Given the description of an element on the screen output the (x, y) to click on. 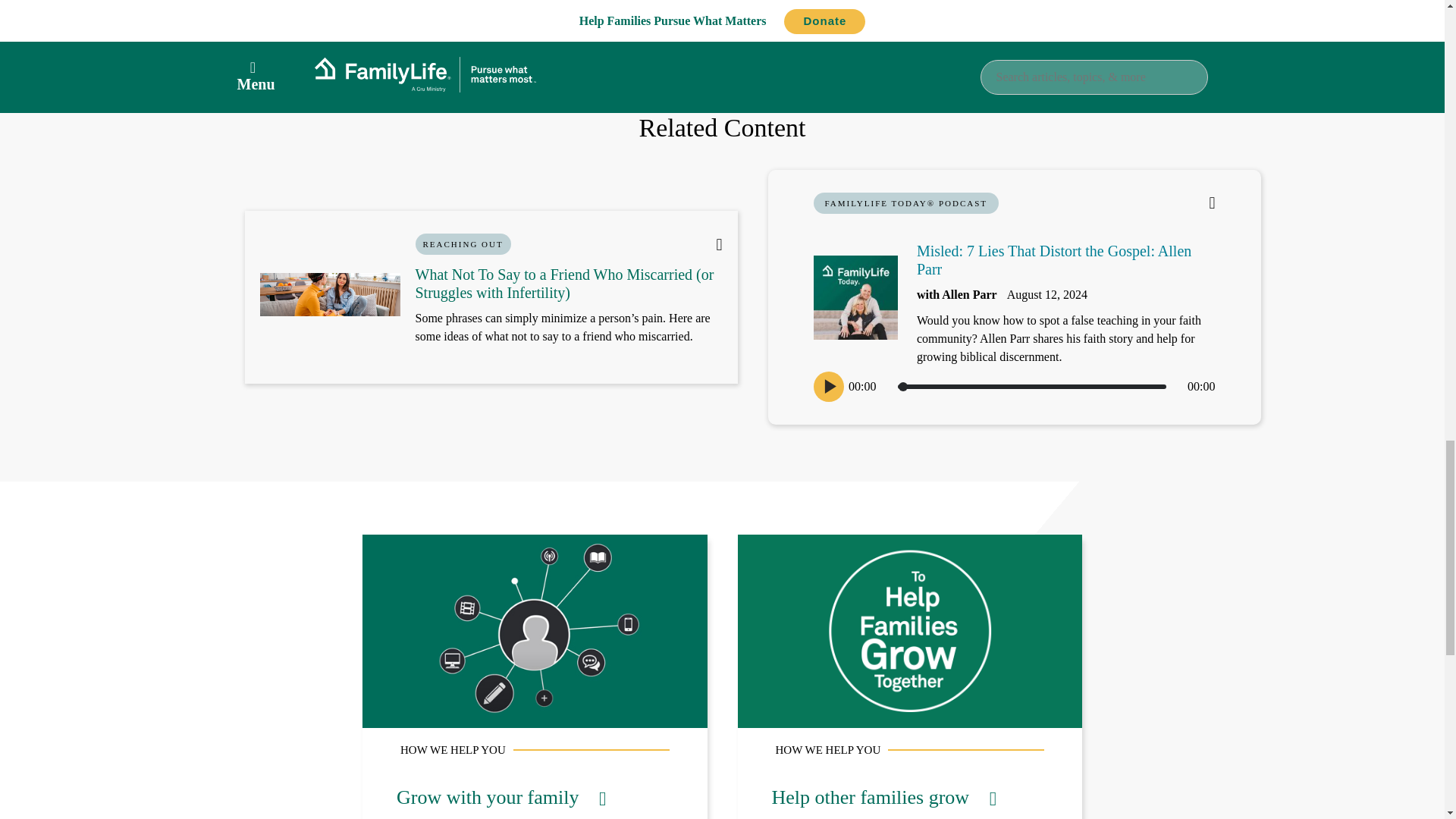
0 (1032, 386)
Misled: 7 Lies That Distort the Gospel: Allen Parr (1054, 259)
Grow with your family (500, 797)
REACHING OUT (462, 243)
Help other families grow (884, 797)
